Given the description of an element on the screen output the (x, y) to click on. 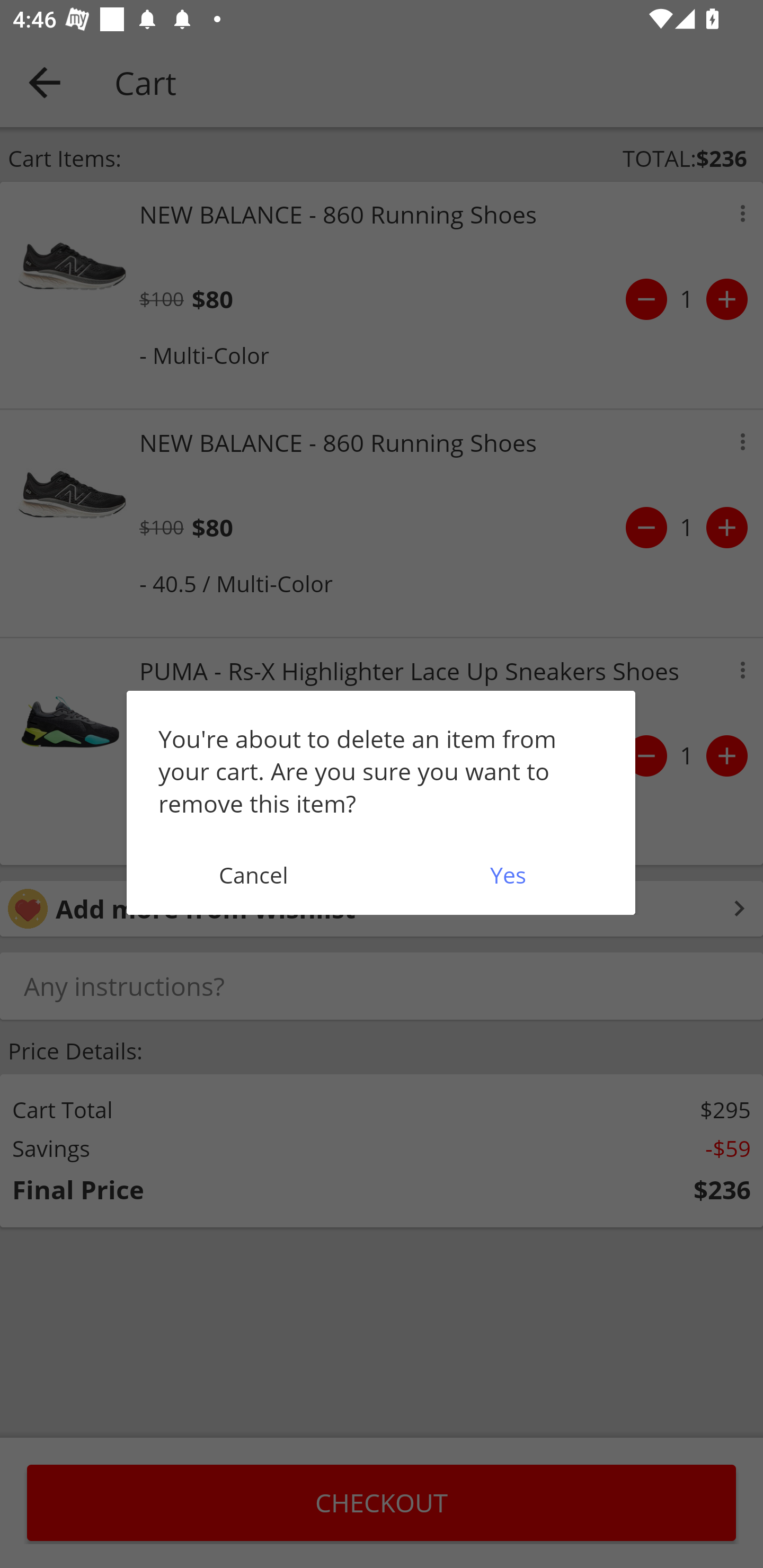
Cancel (253, 874)
Yes (507, 874)
